Given the description of an element on the screen output the (x, y) to click on. 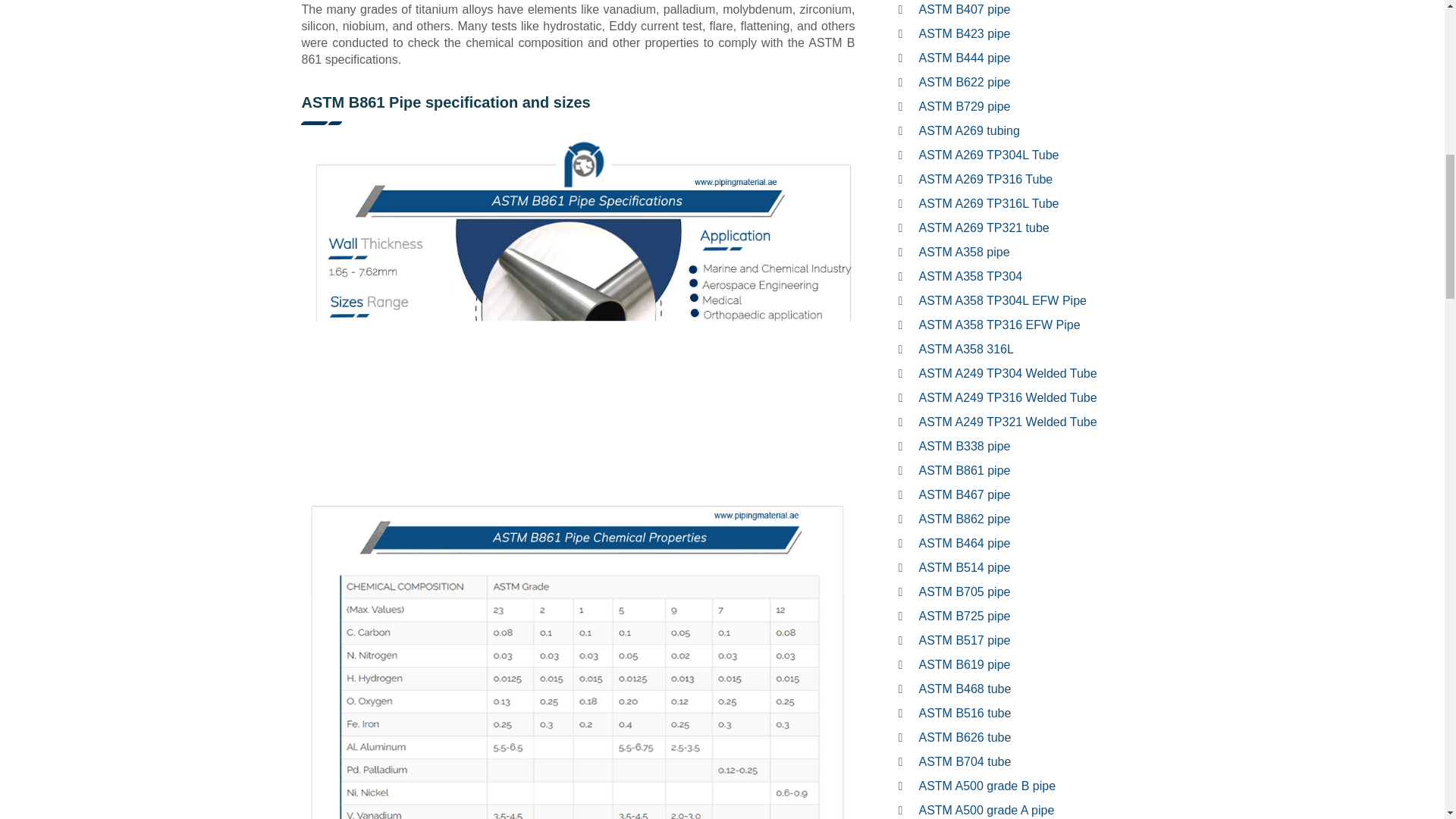
ASTM B423 pipe (964, 33)
ASTM B407 pipe (964, 9)
ASTM B444 pipe (964, 57)
